Given the description of an element on the screen output the (x, y) to click on. 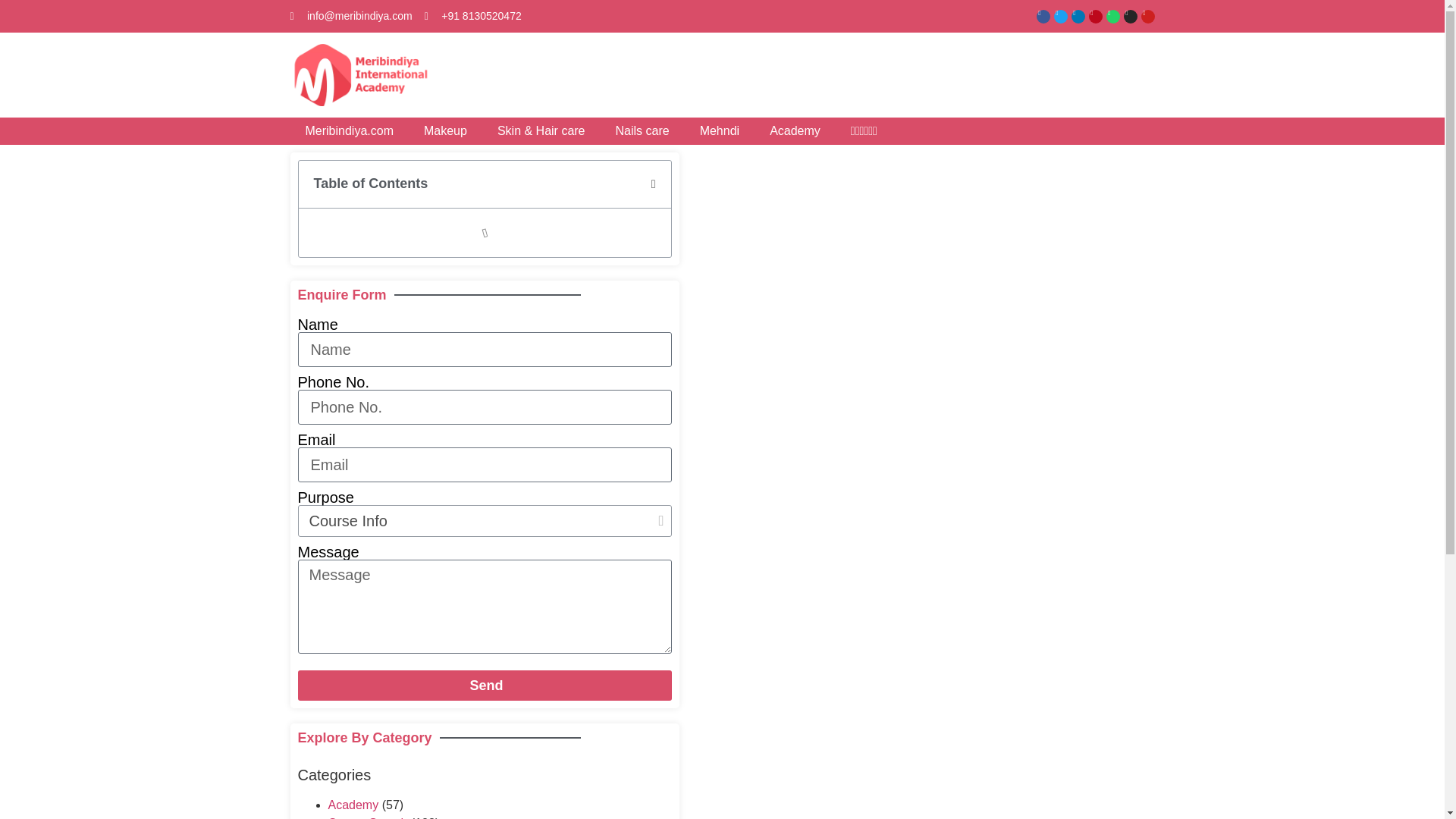
Mehndi (719, 130)
Makeup (445, 130)
Meribindiya.com (348, 130)
Nails care (641, 130)
Academy (794, 130)
